Given the description of an element on the screen output the (x, y) to click on. 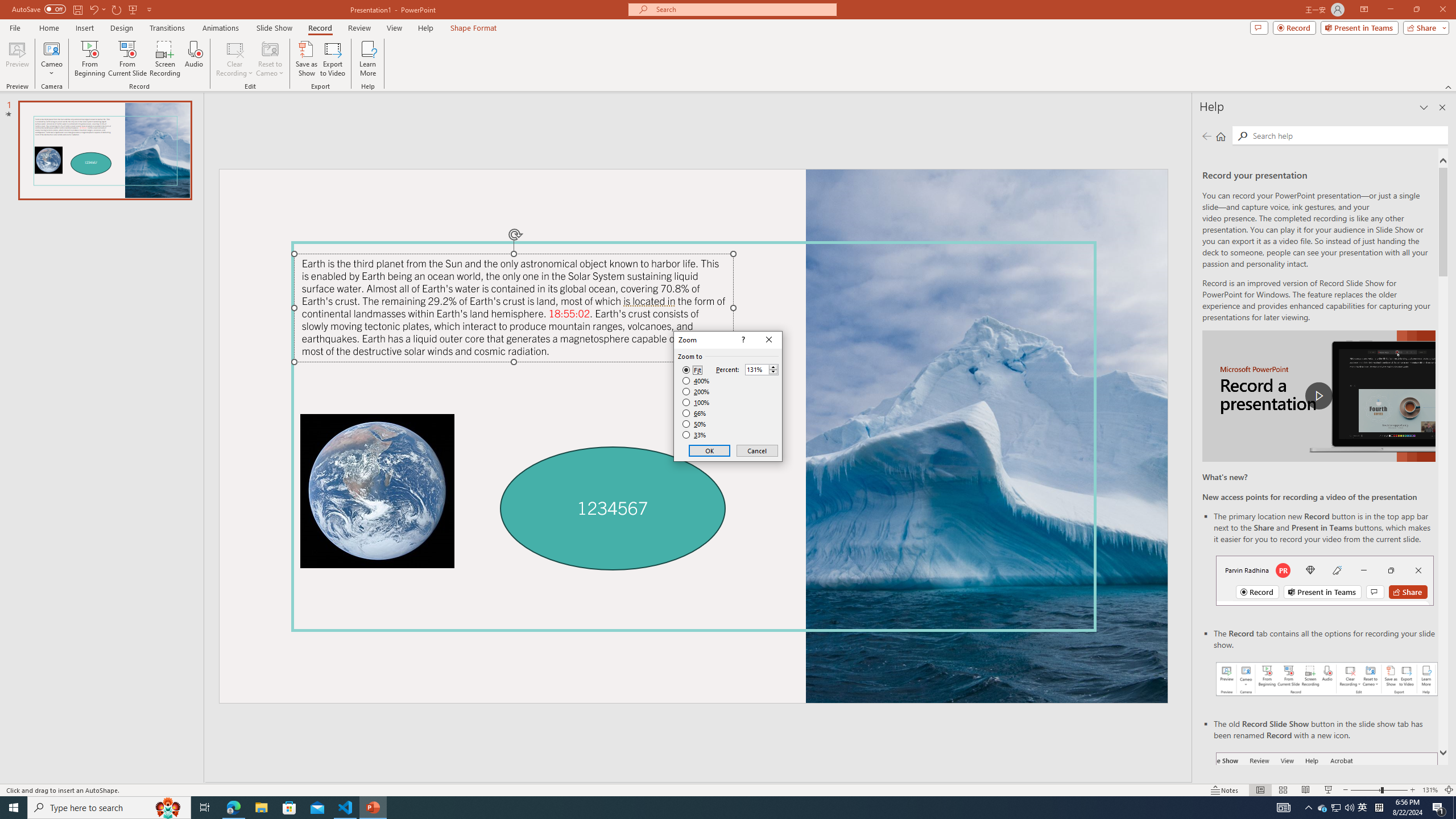
66% (694, 412)
50% (694, 424)
33% (694, 434)
